Given the description of an element on the screen output the (x, y) to click on. 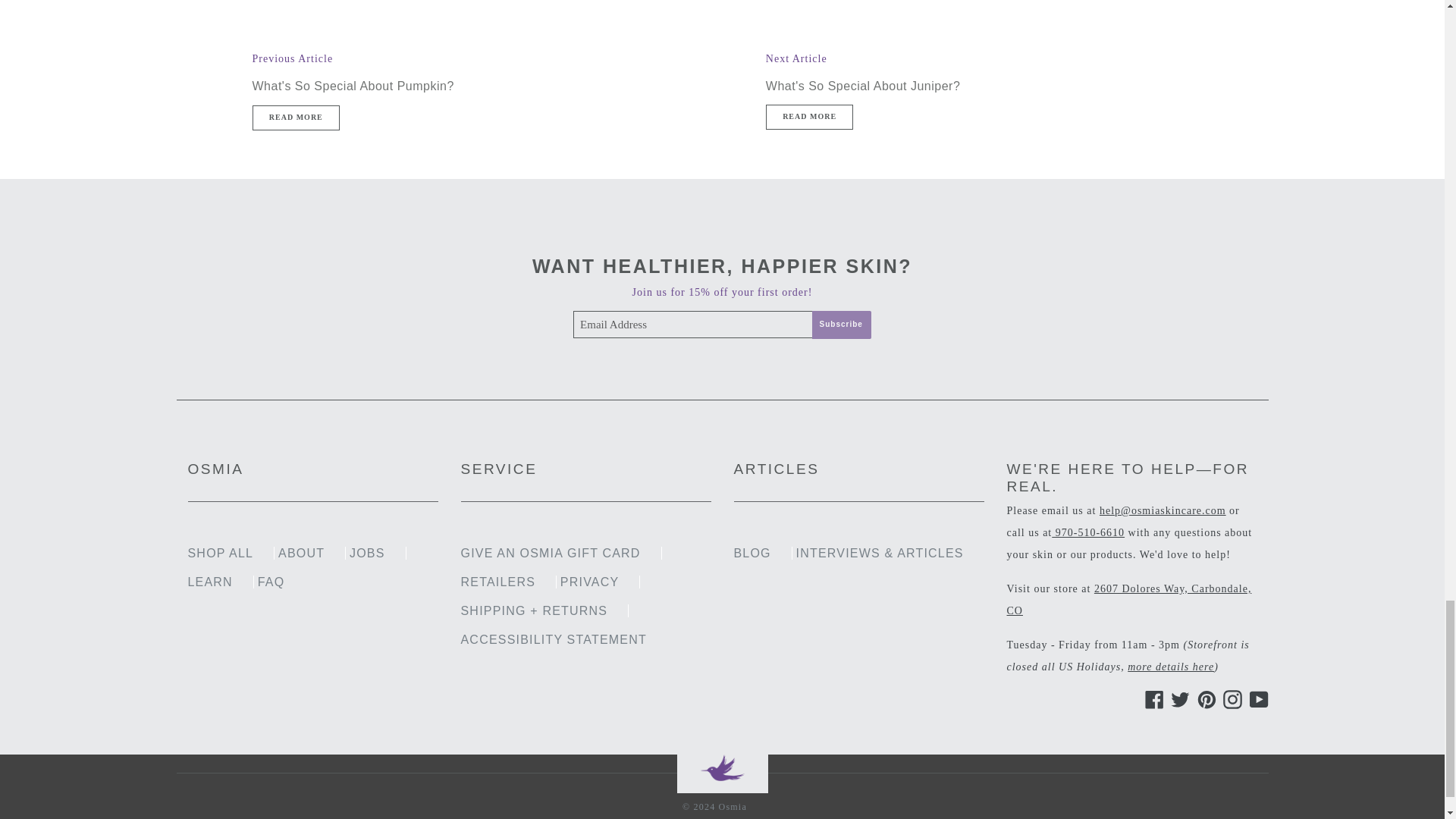
Osmia  on Facebook (1151, 699)
Osmia  on Pinterest (1203, 699)
Osmia  on Instagram (1229, 699)
Osmia  on Twitter (1177, 699)
Osmia Skincare FAQ (1170, 666)
tel:970-510-6610 (1087, 532)
Osmia  on YouTube (1256, 699)
